Given the description of an element on the screen output the (x, y) to click on. 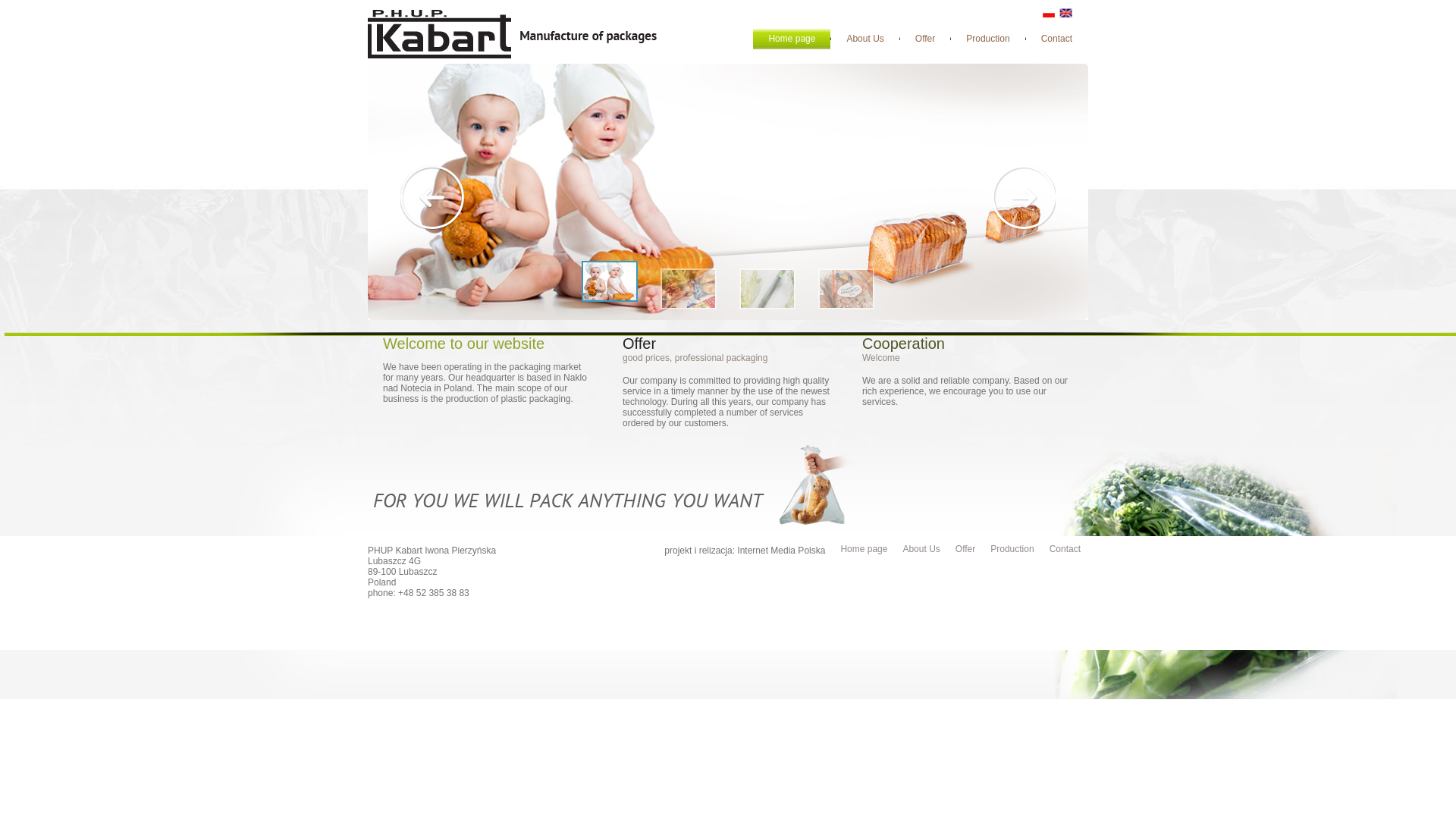
Home page (790, 38)
Offer (924, 38)
Contact (1056, 38)
About Us (864, 38)
Contact (1064, 548)
Offer (964, 548)
Production (1011, 548)
About Us (921, 548)
Production (987, 38)
Strony Internetowe (780, 550)
